Given the description of an element on the screen output the (x, y) to click on. 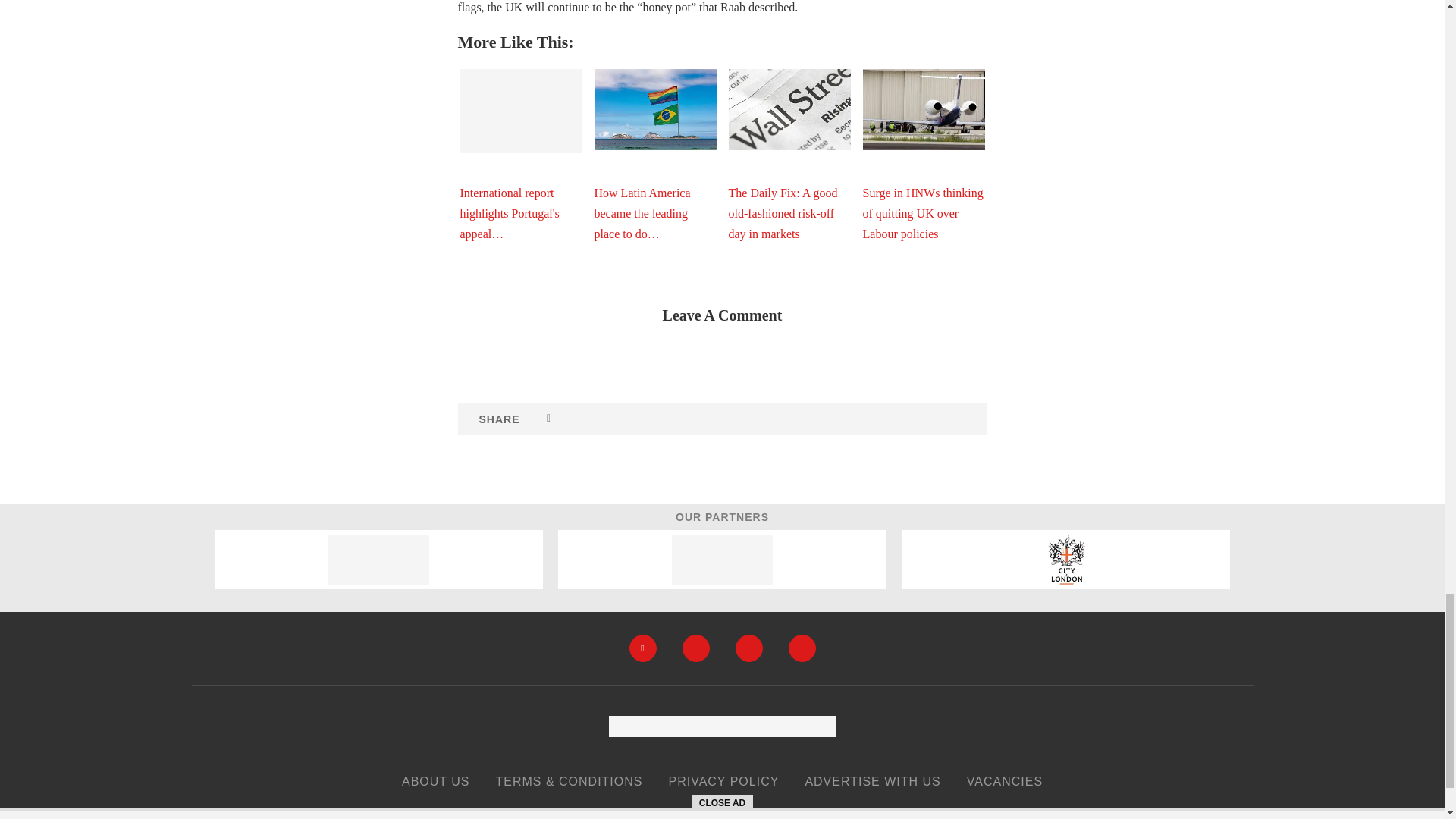
Surge in HNWs thinking of quitting UK over Labour policies (924, 108)
The Daily Fix: A good old-fashioned risk-off day in markets (789, 108)
